Given the description of an element on the screen output the (x, y) to click on. 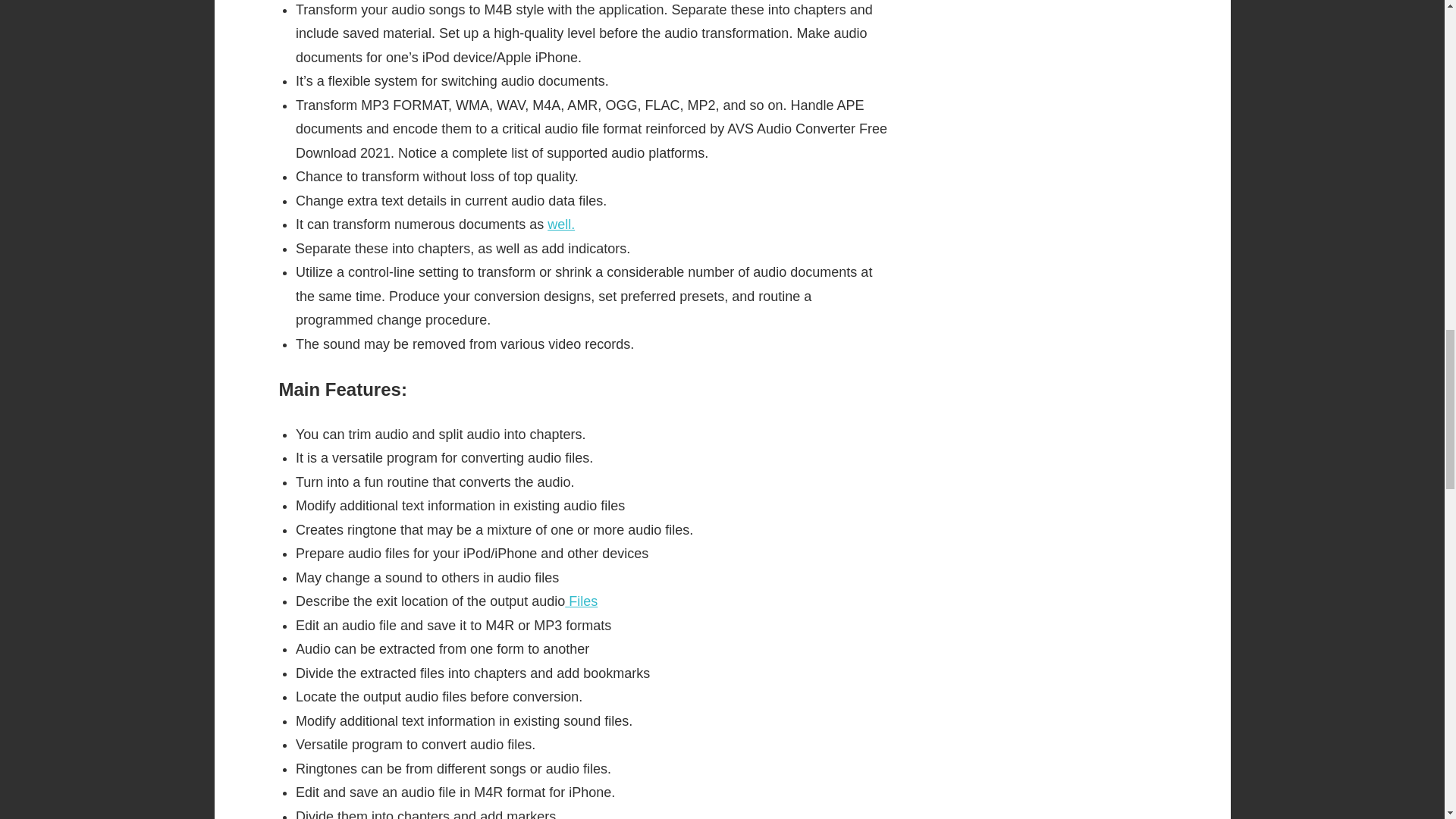
Files (580, 601)
well. (561, 224)
